Given the description of an element on the screen output the (x, y) to click on. 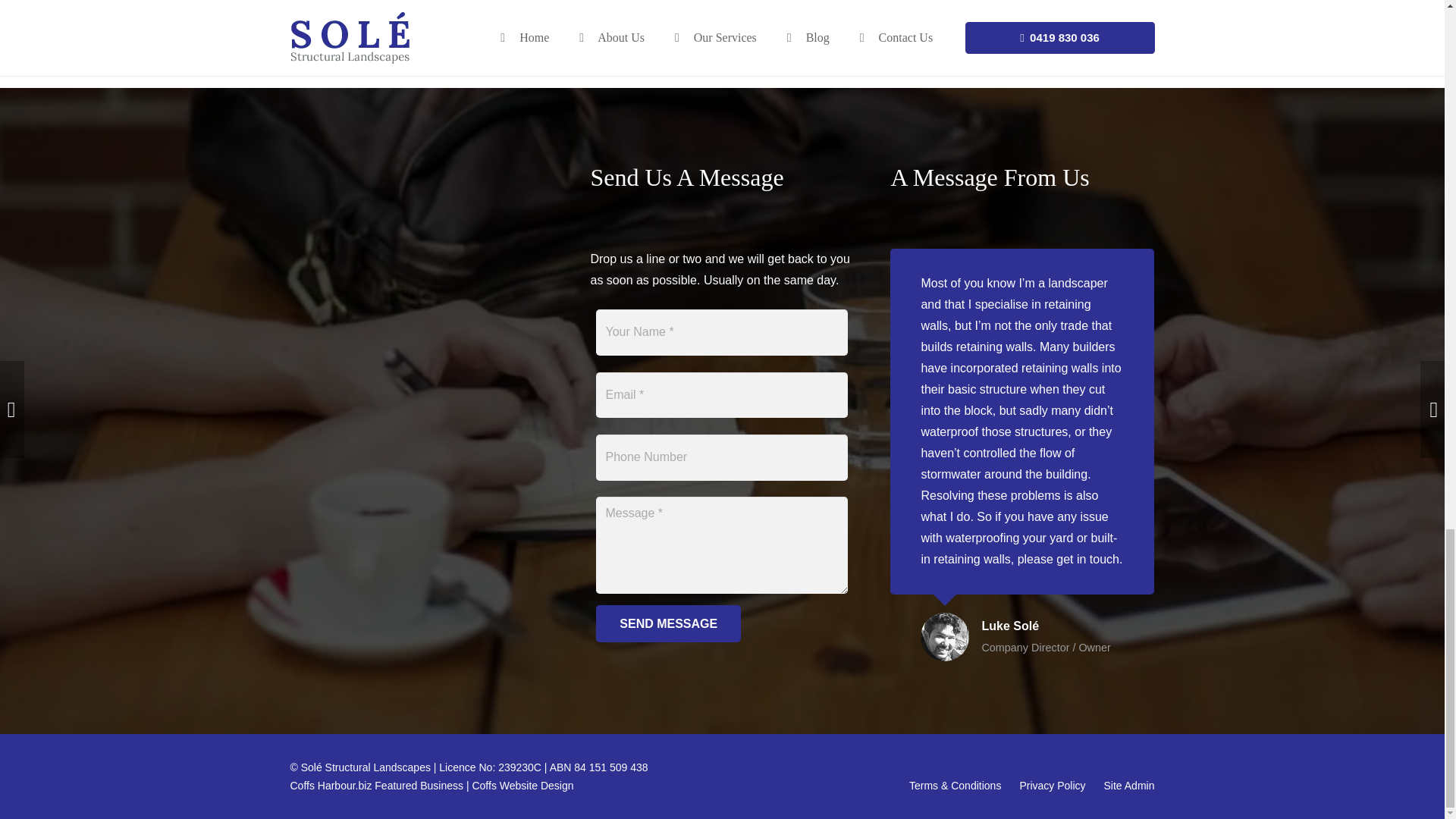
Send Message (668, 623)
Coffs Harbour Business Directory (376, 785)
Send Message (668, 623)
Coffs Harbour.biz Featured Business (376, 785)
